Given the description of an element on the screen output the (x, y) to click on. 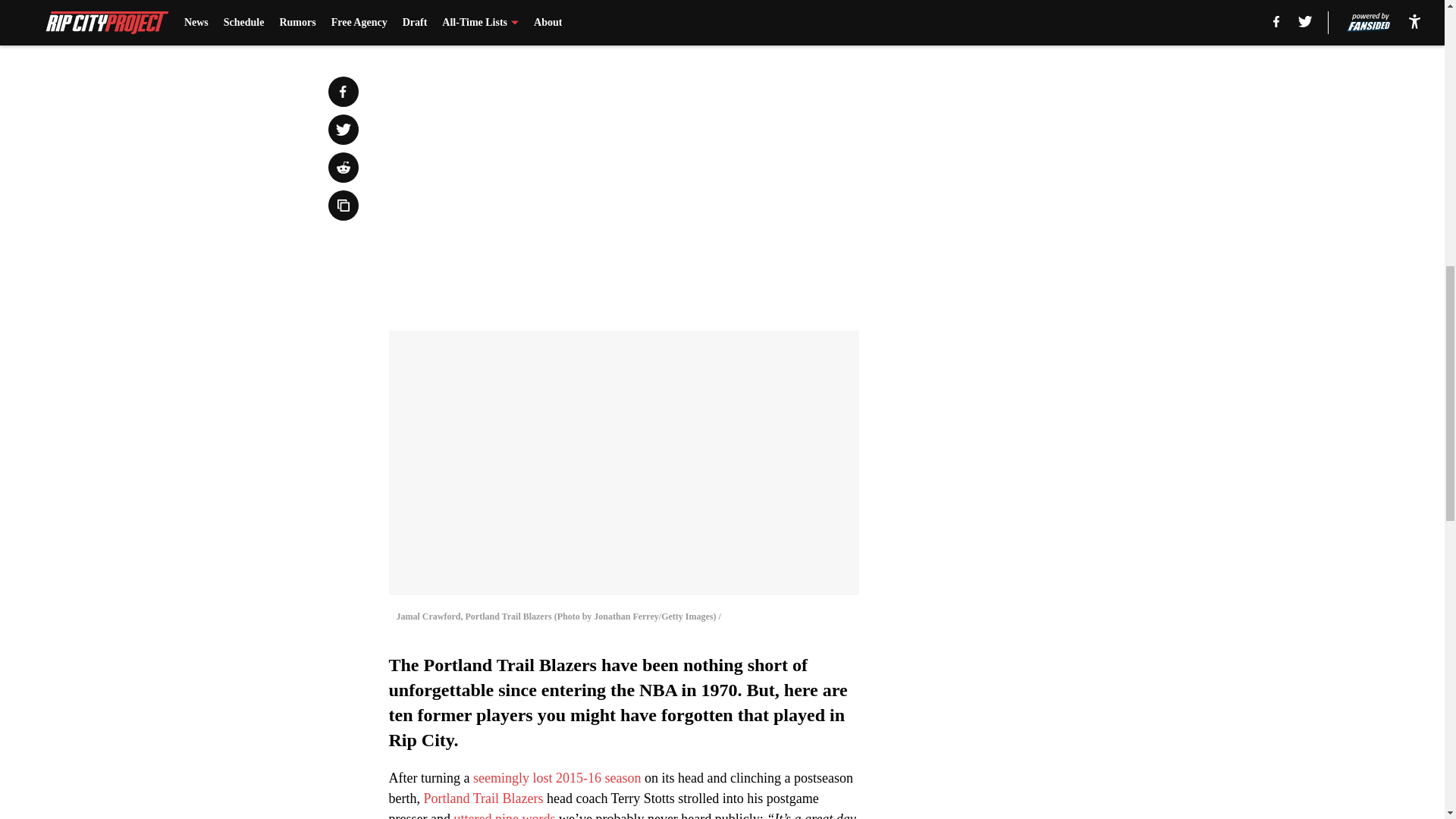
Prev (433, 20)
Portland Trail Blazers (483, 798)
Next (813, 20)
uttered nine words (503, 815)
seemingly lost 2015-16 season (556, 777)
